Given the description of an element on the screen output the (x, y) to click on. 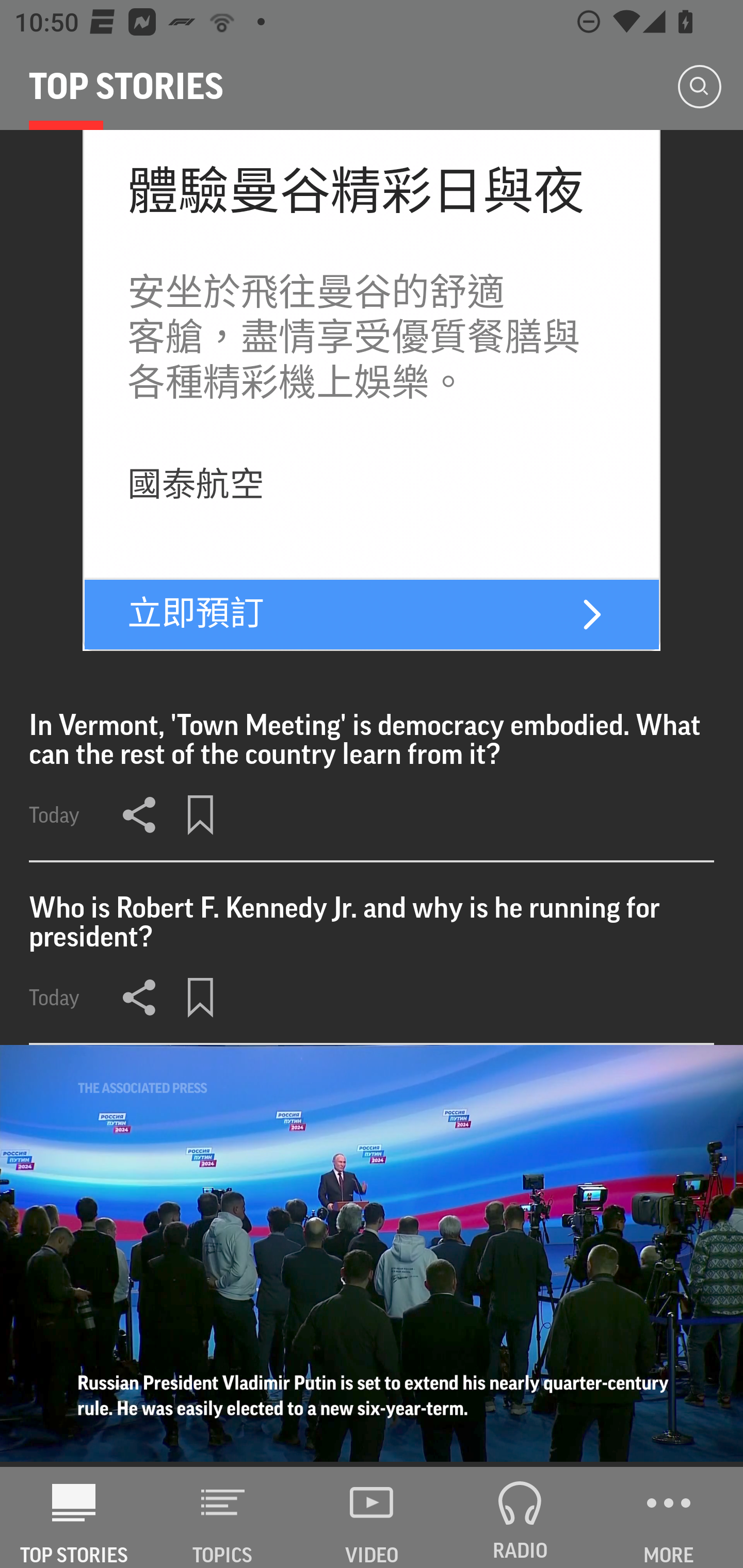
體驗曼谷精彩日與夜 (354, 191)
國泰航空 (194, 484)
立即預訂 (194, 613)
toggle controls (371, 1255)
AP News TOP STORIES (74, 1517)
TOPICS (222, 1517)
VIDEO (371, 1517)
RADIO (519, 1517)
MORE (668, 1517)
